Given the description of an element on the screen output the (x, y) to click on. 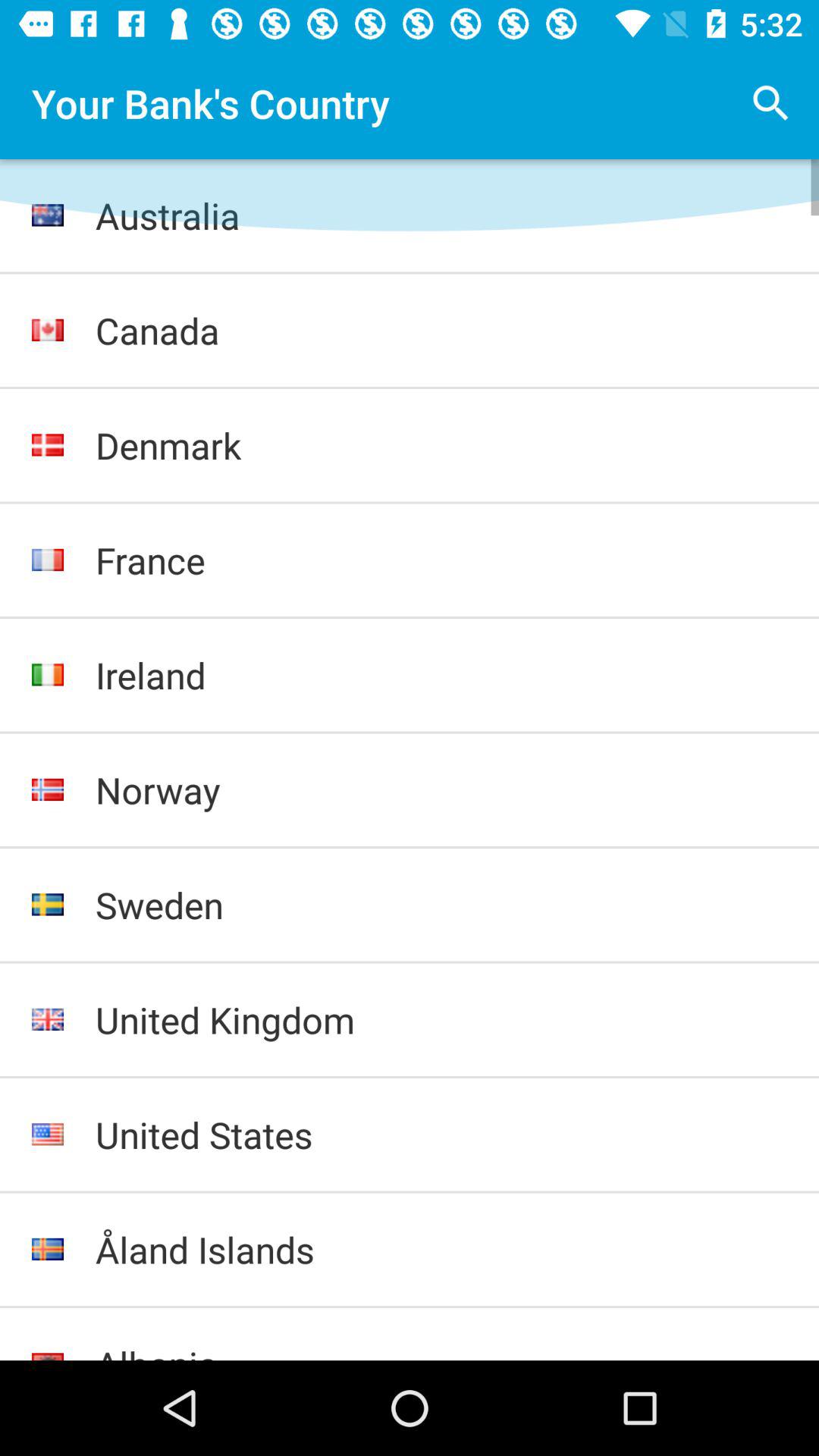
turn on the france (441, 559)
